Given the description of an element on the screen output the (x, y) to click on. 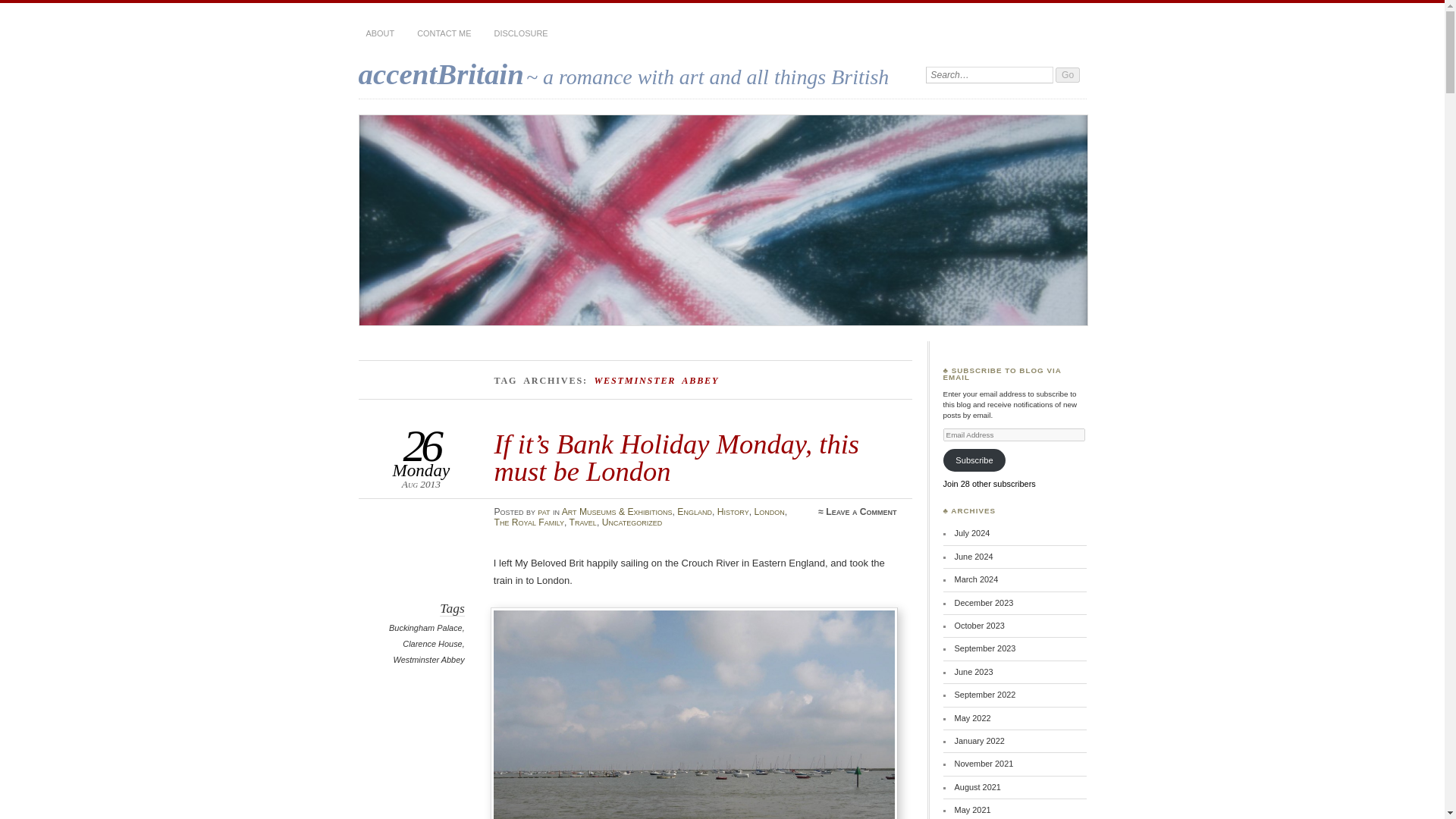
Subscribe (974, 460)
Westminster Abbey (428, 659)
History (733, 511)
View all posts by pat (543, 511)
ABOUT (379, 33)
England (694, 511)
Go (1067, 74)
December 2023 (984, 601)
The Royal Family (528, 521)
July 2024 (972, 532)
CONTACT ME (444, 33)
pat (543, 511)
Leave a Comment (860, 511)
accentBritain (440, 73)
